Given the description of an element on the screen output the (x, y) to click on. 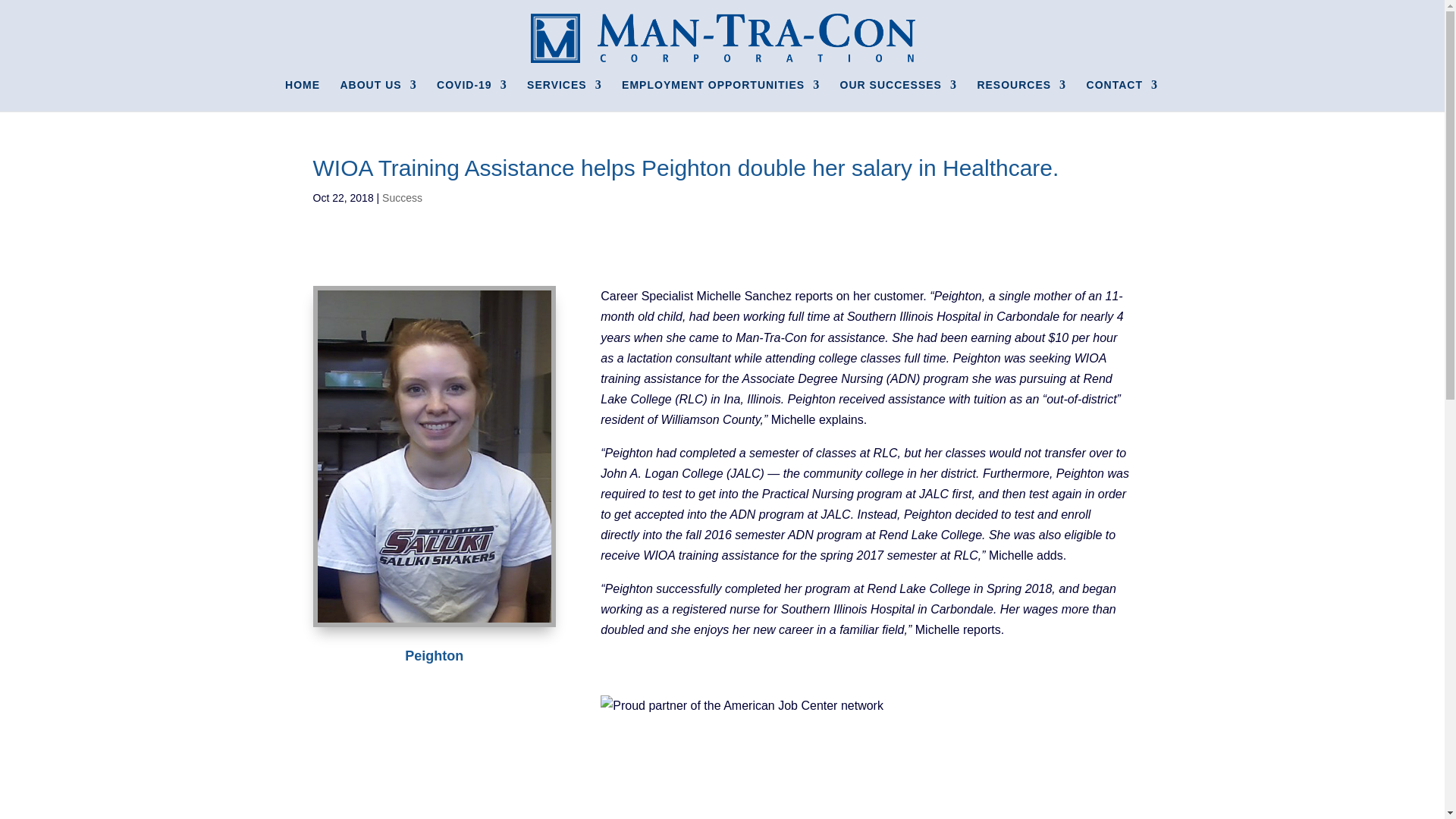
COVID-19 (471, 95)
EMPLOYMENT OPPORTUNITIES (720, 95)
HOME (302, 95)
OUR SUCCESSES (898, 95)
SERVICES (564, 95)
CONTACT (1121, 95)
RESOURCES (1020, 95)
ABOUT US (377, 95)
